Given the description of an element on the screen output the (x, y) to click on. 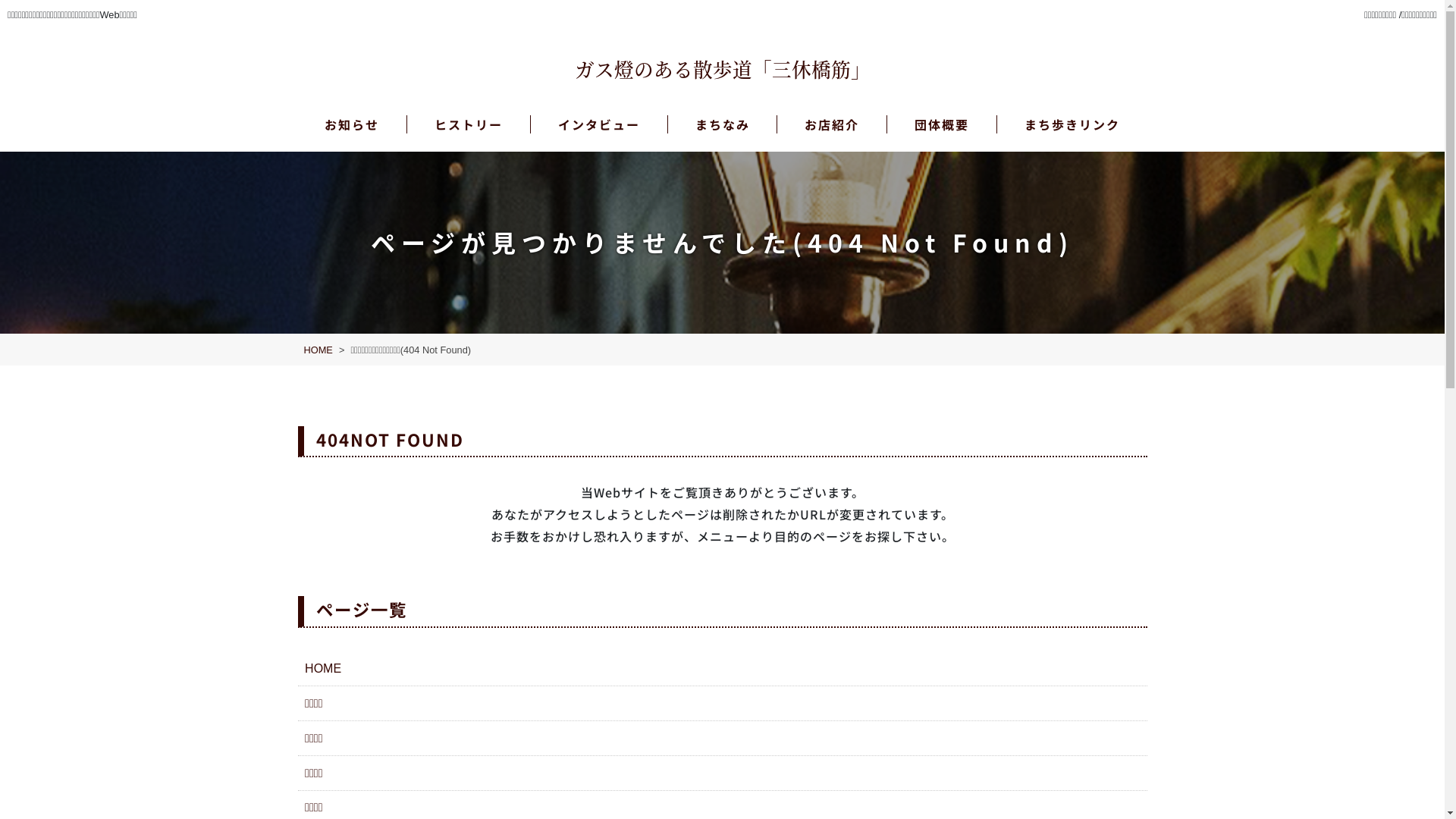
HOME Element type: text (721, 669)
HOME Element type: text (317, 349)
